Given the description of an element on the screen output the (x, y) to click on. 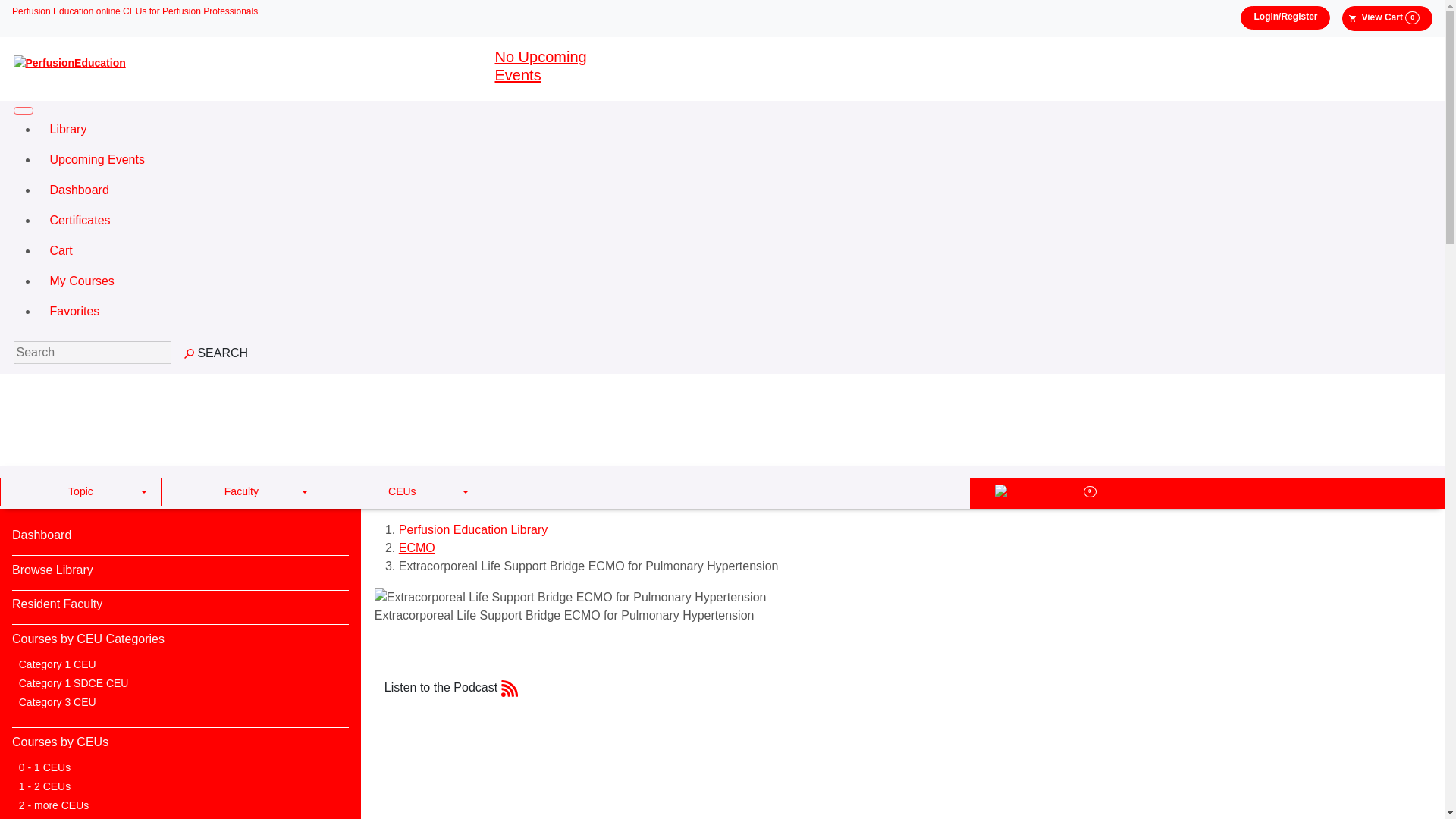
Library (734, 129)
Dashboard (734, 190)
Favorites (734, 311)
My Courses (734, 281)
SEARCH (215, 353)
Certificates (734, 220)
Faculty (240, 491)
Cart (734, 250)
No Upcoming Events (540, 65)
Upcoming Events (734, 159)
View Cart 0 (1387, 18)
Topic (80, 491)
